Given the description of an element on the screen output the (x, y) to click on. 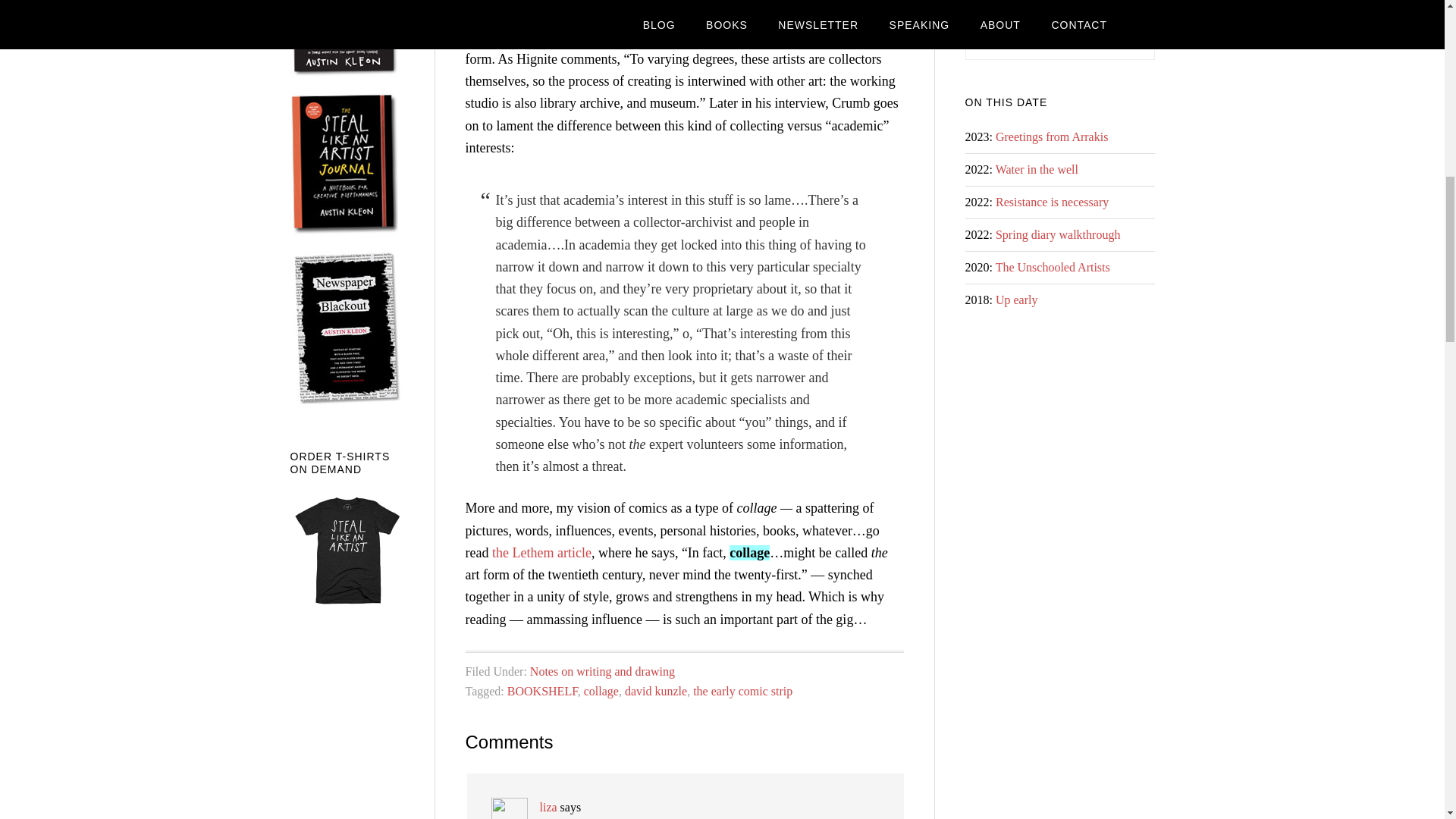
the early comic strip (742, 690)
david kunzle (655, 690)
liza (548, 807)
collage (600, 690)
the Lethem article (541, 552)
BOOKSHELF (542, 690)
Notes on writing and drawing (602, 671)
